Given the description of an element on the screen output the (x, y) to click on. 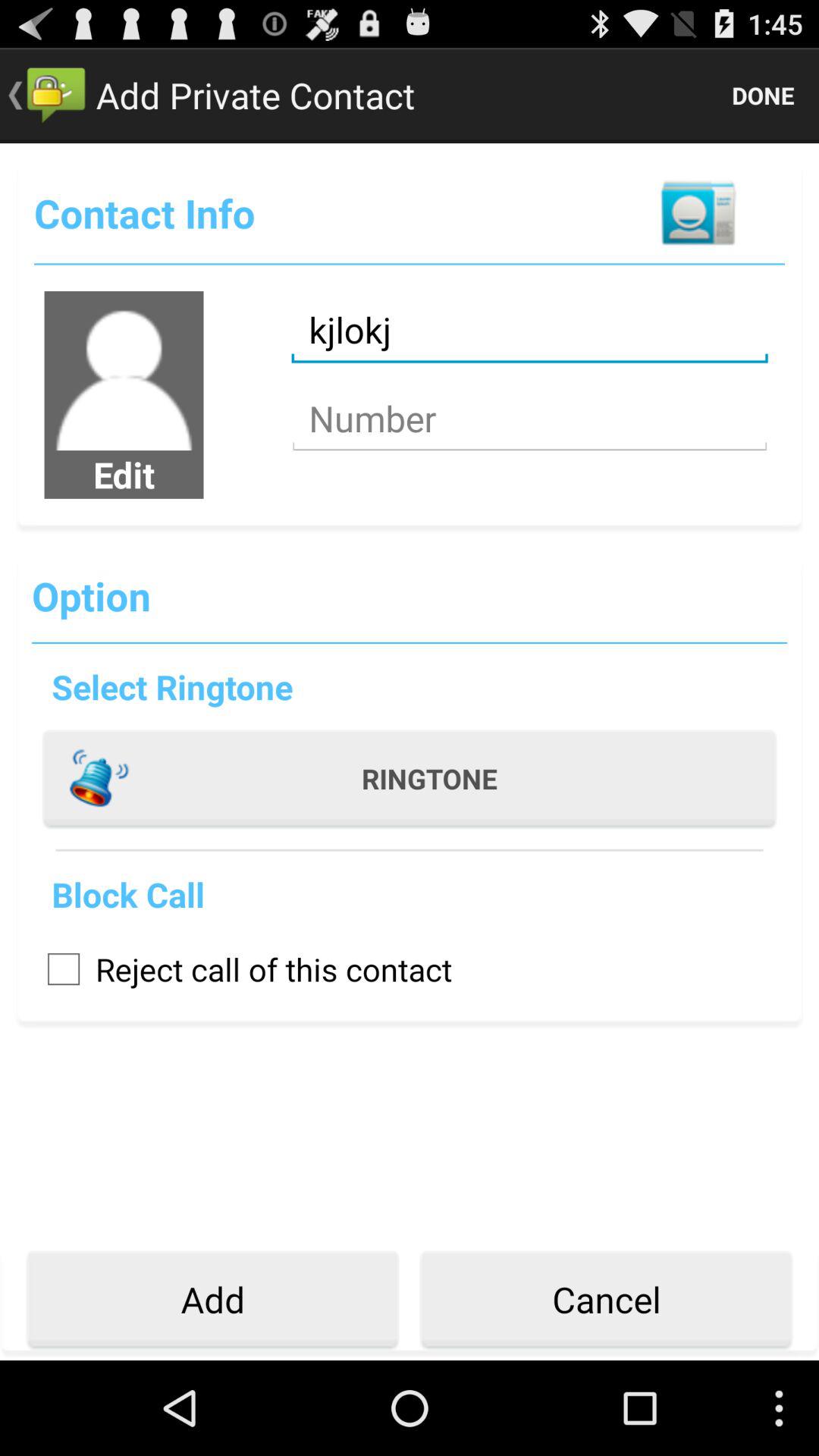
flip to the done (763, 95)
